Given the description of an element on the screen output the (x, y) to click on. 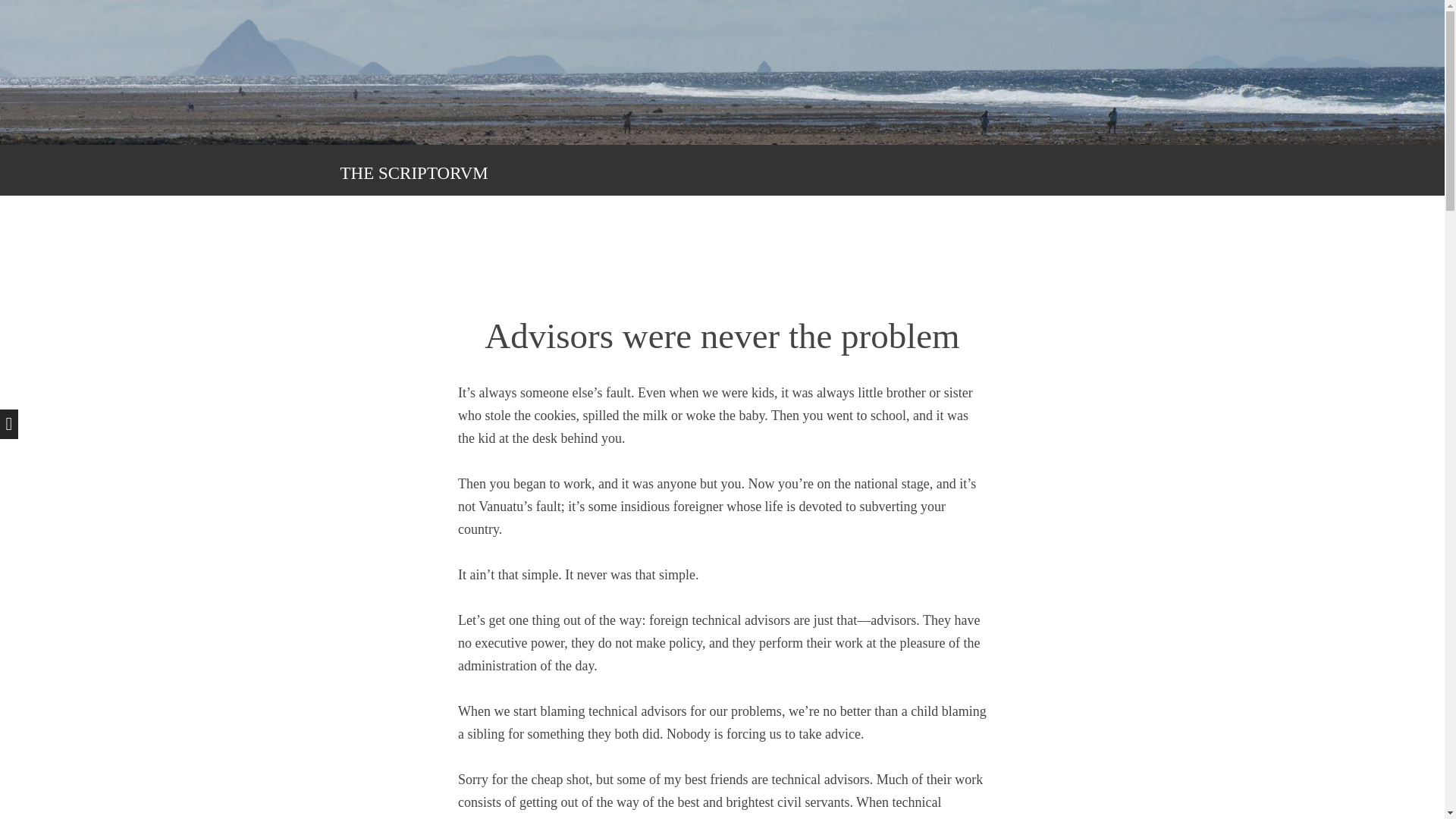
Search (34, 9)
THE SCRIPTORVM (413, 172)
THE SCRIPTORVM (413, 172)
